Given the description of an element on the screen output the (x, y) to click on. 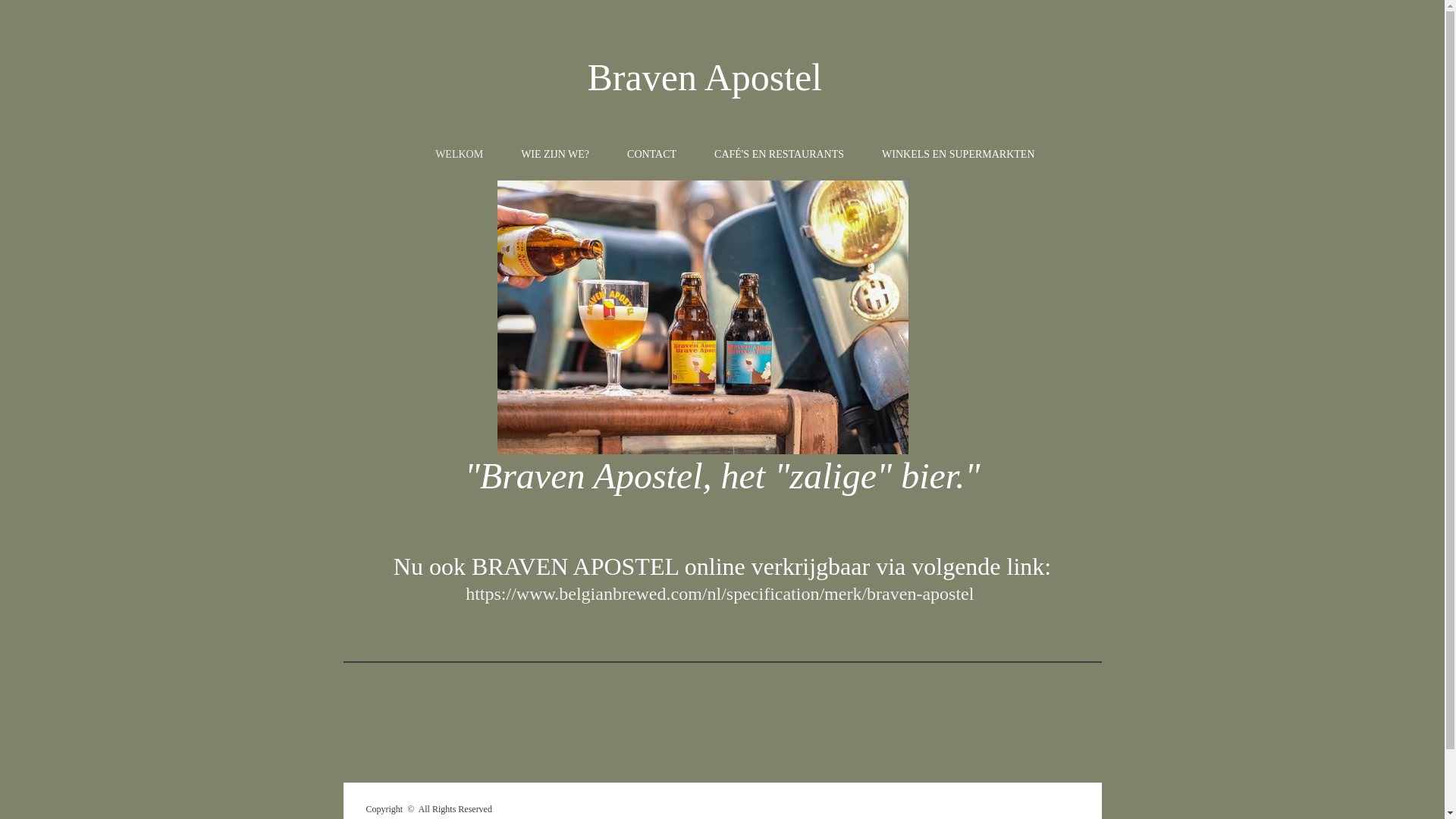
20190225 Braven Apostel (53) Element type: hover (702, 317)
WINKELS EN SUPERMARKTEN Element type: text (957, 153)
WELKOM Element type: text (459, 153)
WIE ZIJN WE? Element type: text (554, 153)
CONTACT Element type: text (651, 153)
